Given the description of an element on the screen output the (x, y) to click on. 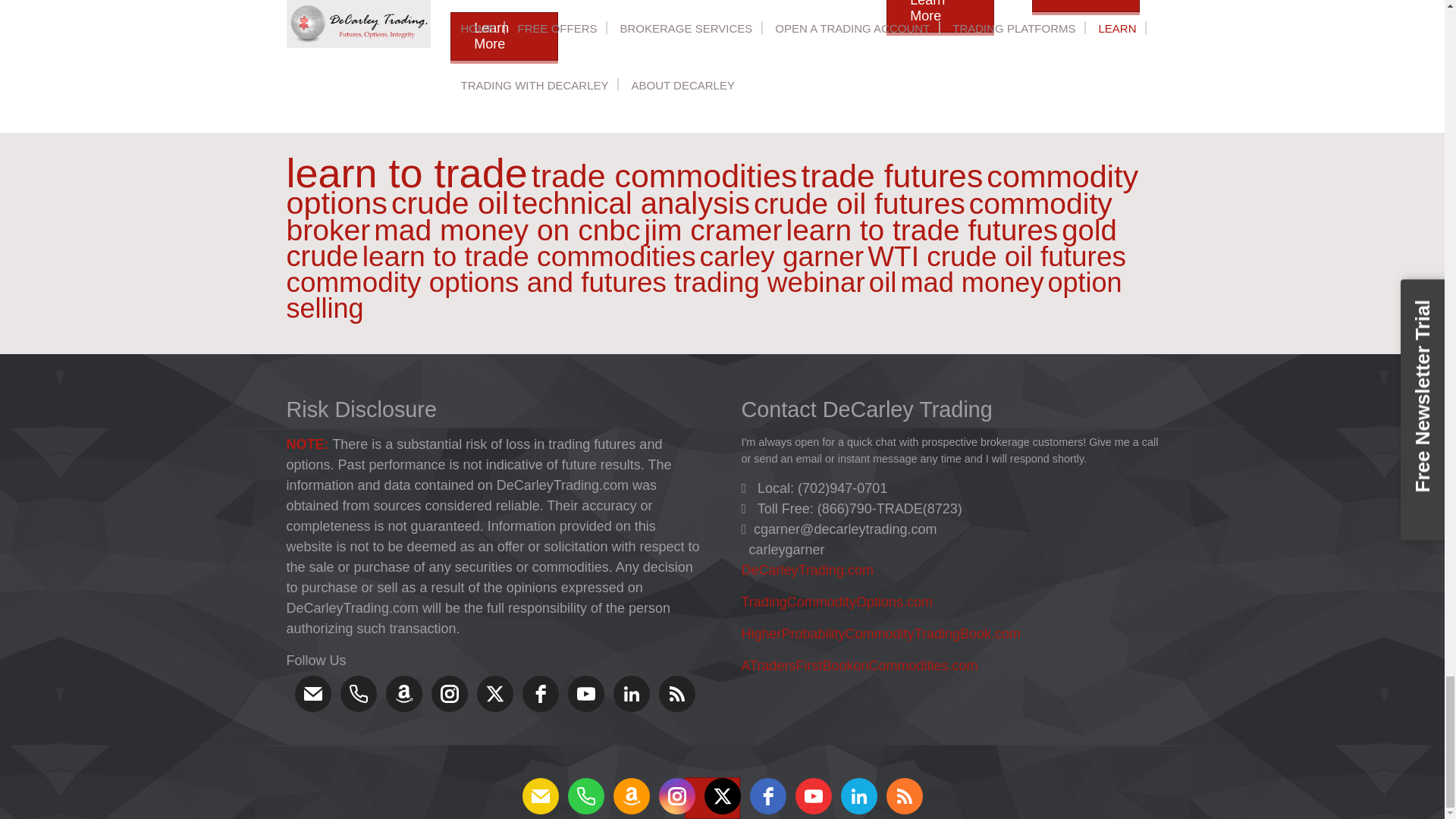
Amazon (403, 693)
Phone (357, 693)
Facebook (539, 693)
Twitter (494, 693)
Instagram (448, 693)
Email (312, 693)
